Given the description of an element on the screen output the (x, y) to click on. 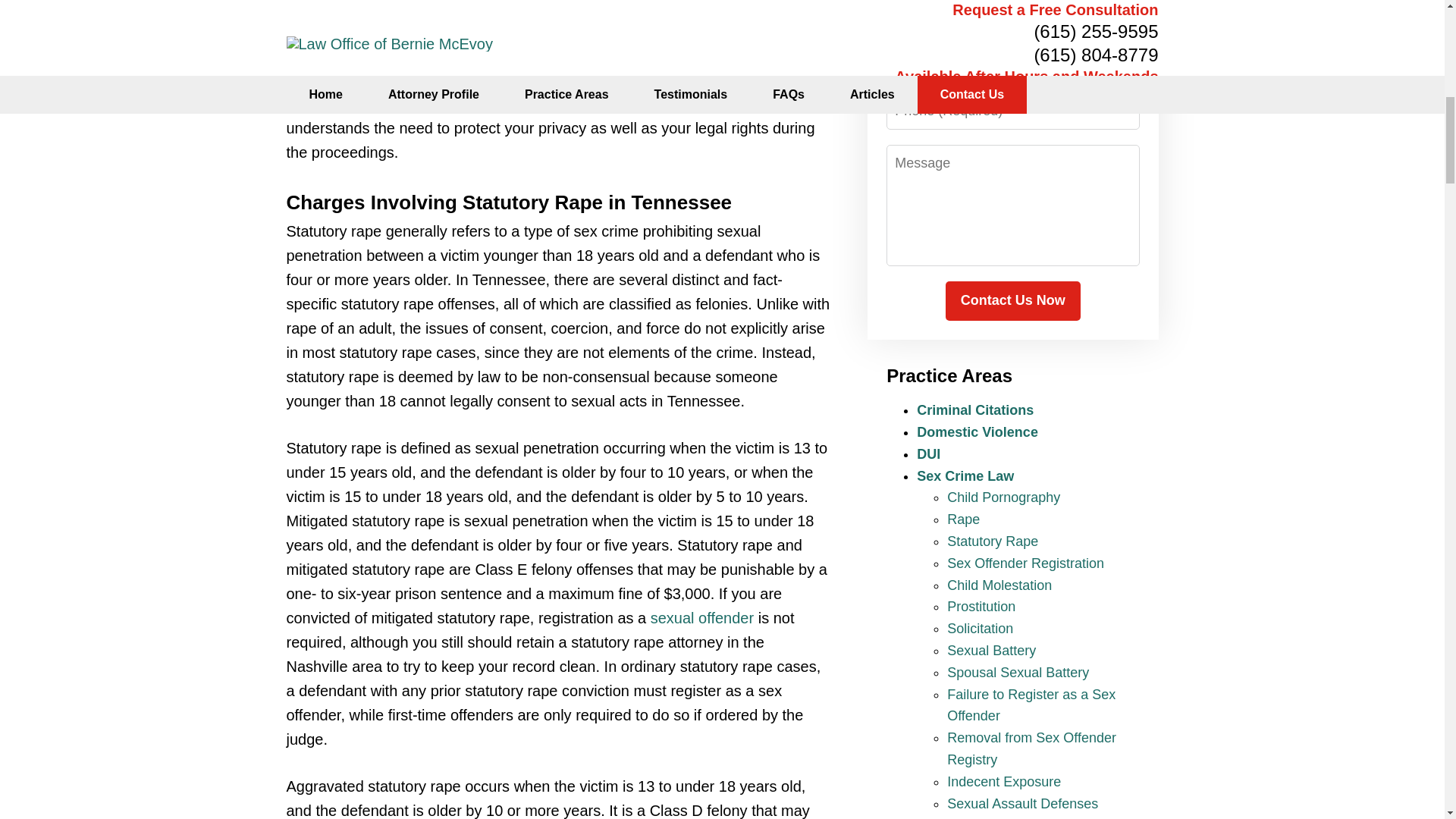
Spousal Sexual Battery (1018, 672)
Sex Crime Law (965, 476)
Failure to Register as a Sex Offender (1031, 705)
Practice Areas (948, 375)
Prostitution (980, 606)
Criminal Citations (975, 409)
Sexual Battery (991, 650)
Contact Us Now (1012, 301)
sexual offender (702, 617)
rape (719, 79)
